Given the description of an element on the screen output the (x, y) to click on. 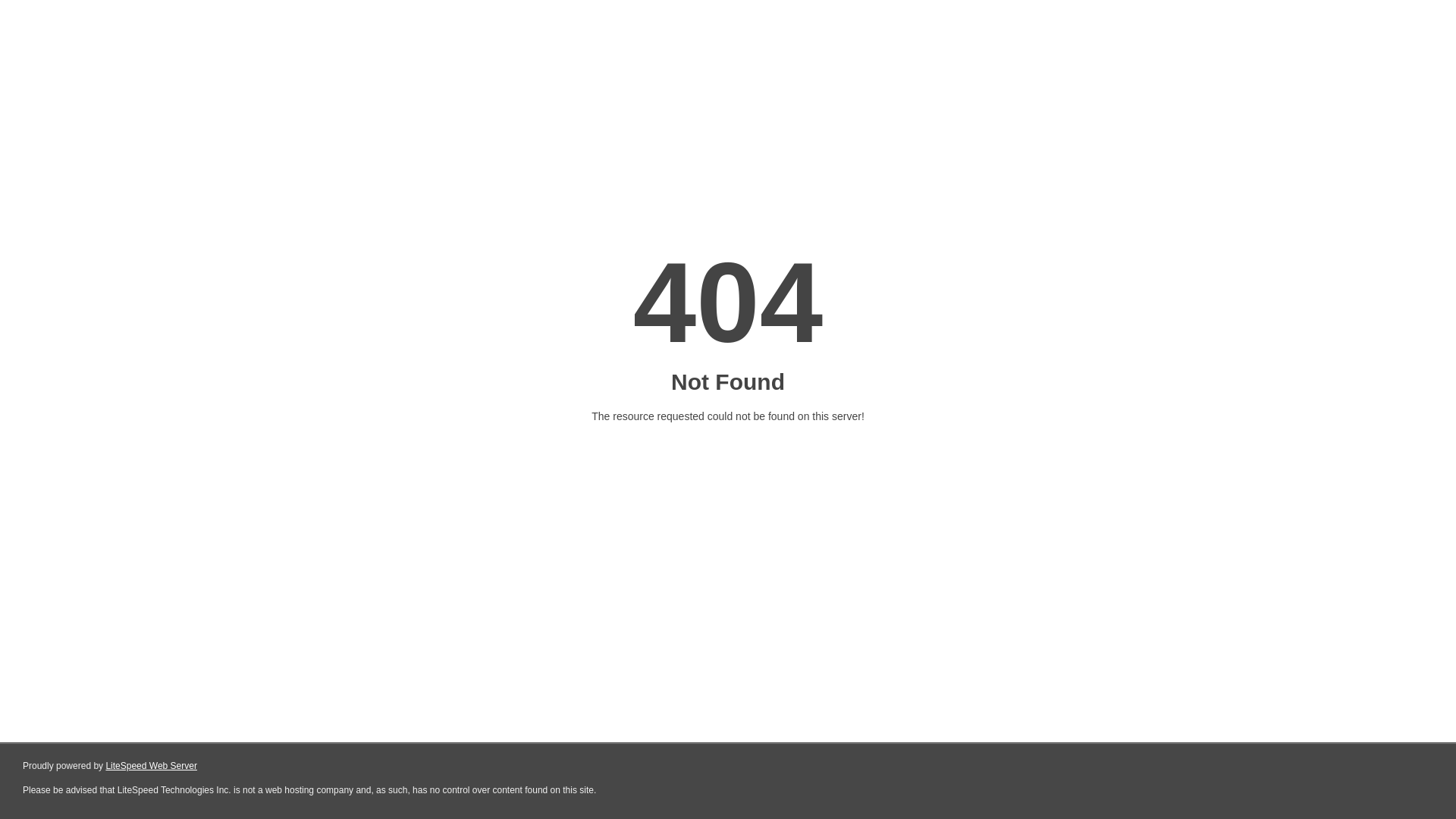
LiteSpeed Web Server Element type: text (151, 765)
